Given the description of an element on the screen output the (x, y) to click on. 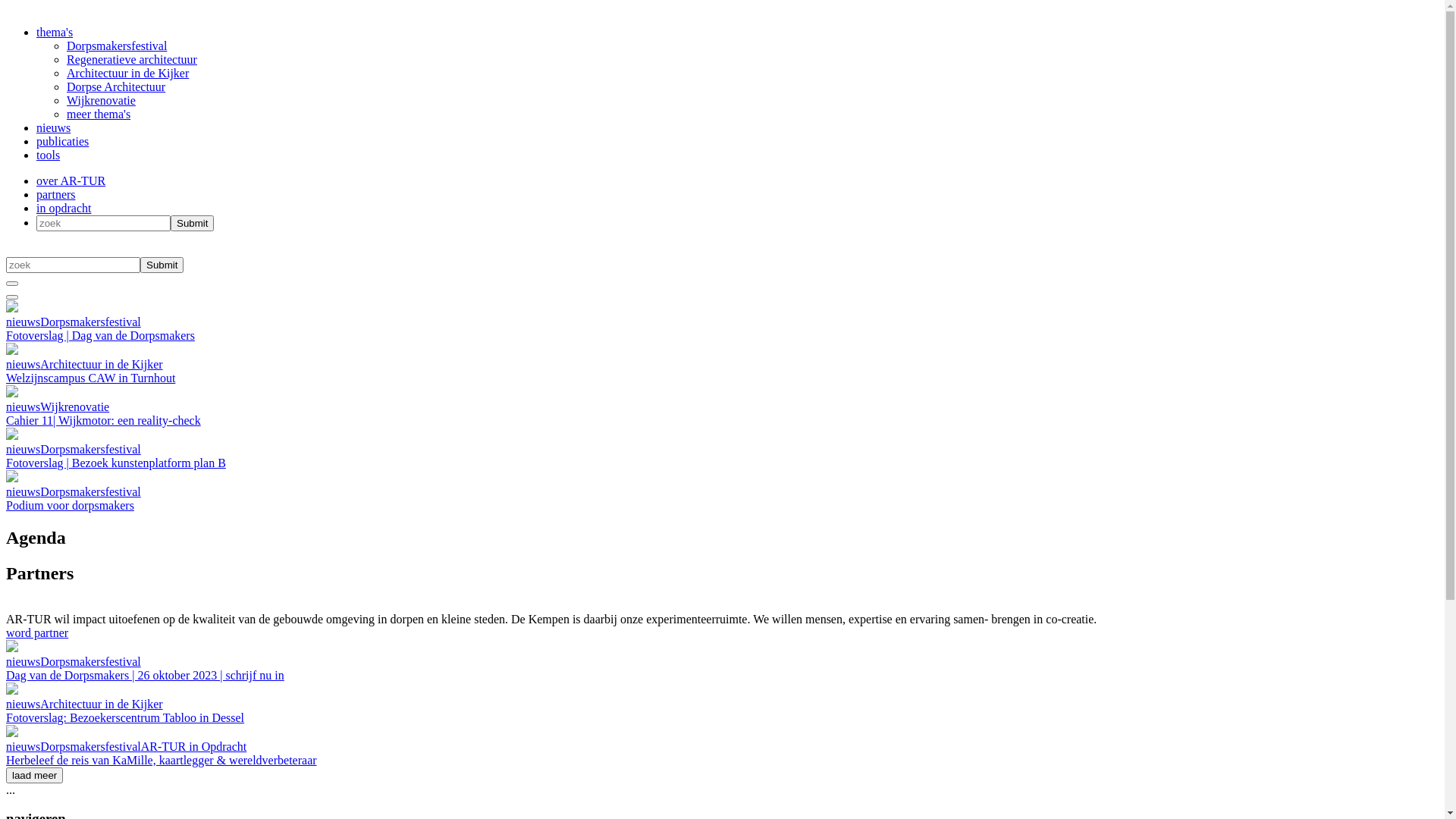
Regeneratieve architectuur Element type: text (131, 59)
word partner Element type: text (37, 632)
nieuws Element type: text (23, 321)
publicaties Element type: text (62, 140)
Zoek Element type: hover (103, 223)
Dorpsmakersfestival Element type: text (90, 321)
AR-TUR in Opdracht Element type: text (194, 746)
Dorpsmakersfestival Element type: text (116, 45)
Cahier 11| Wijkmotor: een reality-check Element type: text (103, 420)
partners Element type: text (55, 194)
Fotoverslag | Bezoek kunstenplatform plan B Element type: text (115, 462)
Dorpsmakersfestival Element type: text (90, 746)
nieuws Element type: text (23, 448)
Dorpse Architectuur Element type: text (115, 86)
laad meer Element type: text (34, 775)
Dorpsmakersfestival Element type: text (90, 491)
nieuws Element type: text (23, 746)
nieuws Element type: text (23, 491)
Wijkrenovatie Element type: text (100, 100)
Architectuur in de Kijker Element type: text (127, 72)
Architectuur in de Kijker Element type: text (101, 363)
nieuws Element type: text (53, 127)
thema's Element type: text (54, 31)
Welzijnscampus CAW in Turnhout Element type: text (90, 377)
Fotoverslag: Bezoekerscentrum Tabloo in Dessel Element type: text (125, 717)
nieuws Element type: text (23, 661)
Architectuur in de Kijker Element type: text (101, 703)
Dorpsmakersfestival Element type: text (90, 661)
Wijkrenovatie Element type: text (74, 406)
meer thema's Element type: text (98, 113)
over AR-TUR Element type: text (70, 180)
nieuws Element type: text (23, 703)
Dag van de Dorpsmakers | 26 oktober 2023 | schrijf nu in Element type: text (145, 674)
in opdracht Element type: text (63, 207)
Dorpsmakersfestival Element type: text (90, 448)
tools Element type: text (47, 154)
nieuws Element type: text (23, 406)
nieuws Element type: text (23, 363)
Zoek Element type: hover (73, 265)
Fotoverslag | Dag van de Dorpsmakers Element type: text (100, 335)
Podium voor dorpsmakers Element type: text (70, 504)
